Given the description of an element on the screen output the (x, y) to click on. 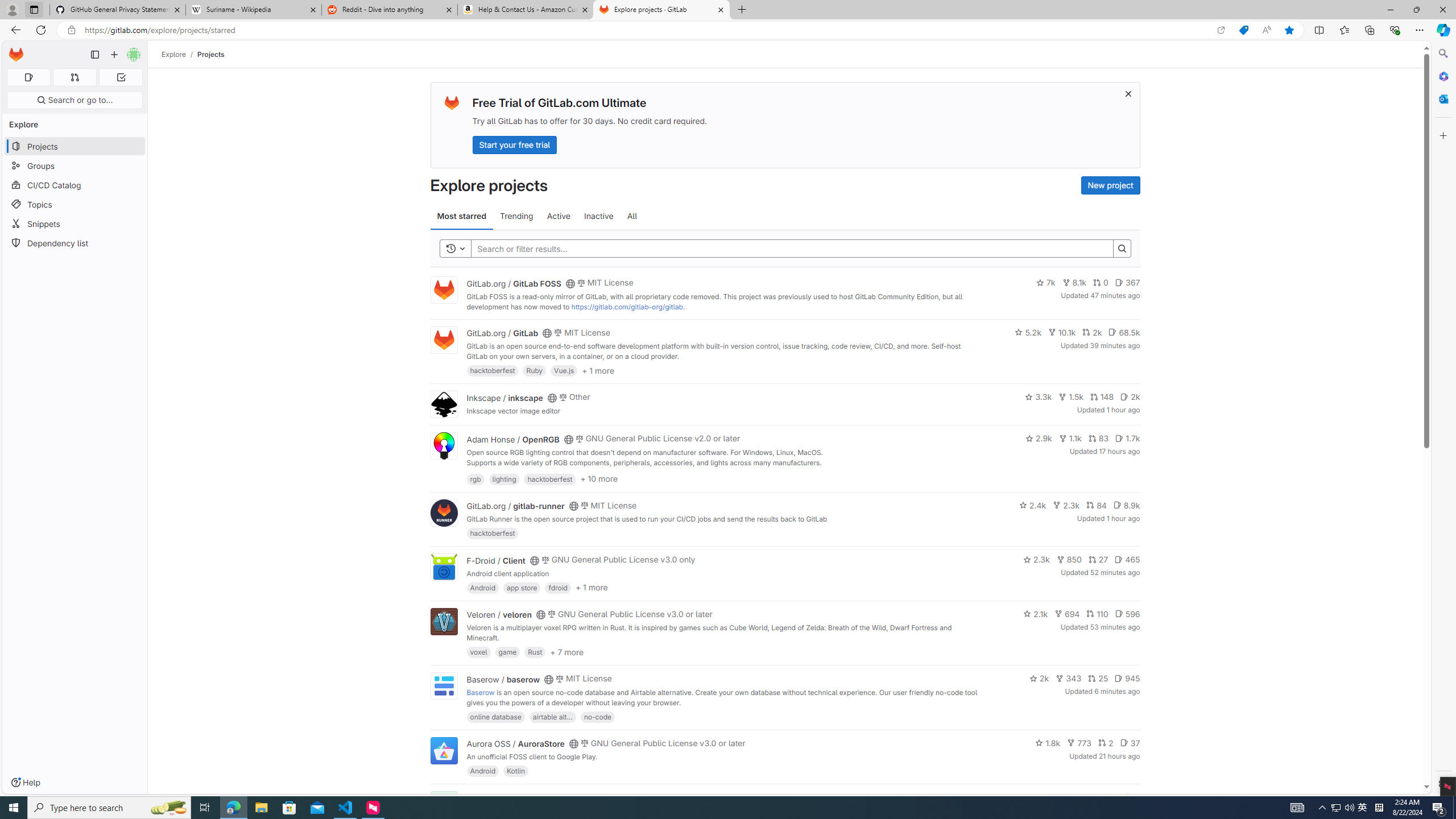
Dependency list (74, 242)
8.9k (1126, 504)
online database (495, 715)
Dependency list (74, 242)
Explore (173, 53)
F (443, 805)
Rust (535, 651)
68.5k (1124, 331)
CI/CD Catalog (74, 185)
Snippets (74, 223)
143 (1085, 797)
